Given the description of an element on the screen output the (x, y) to click on. 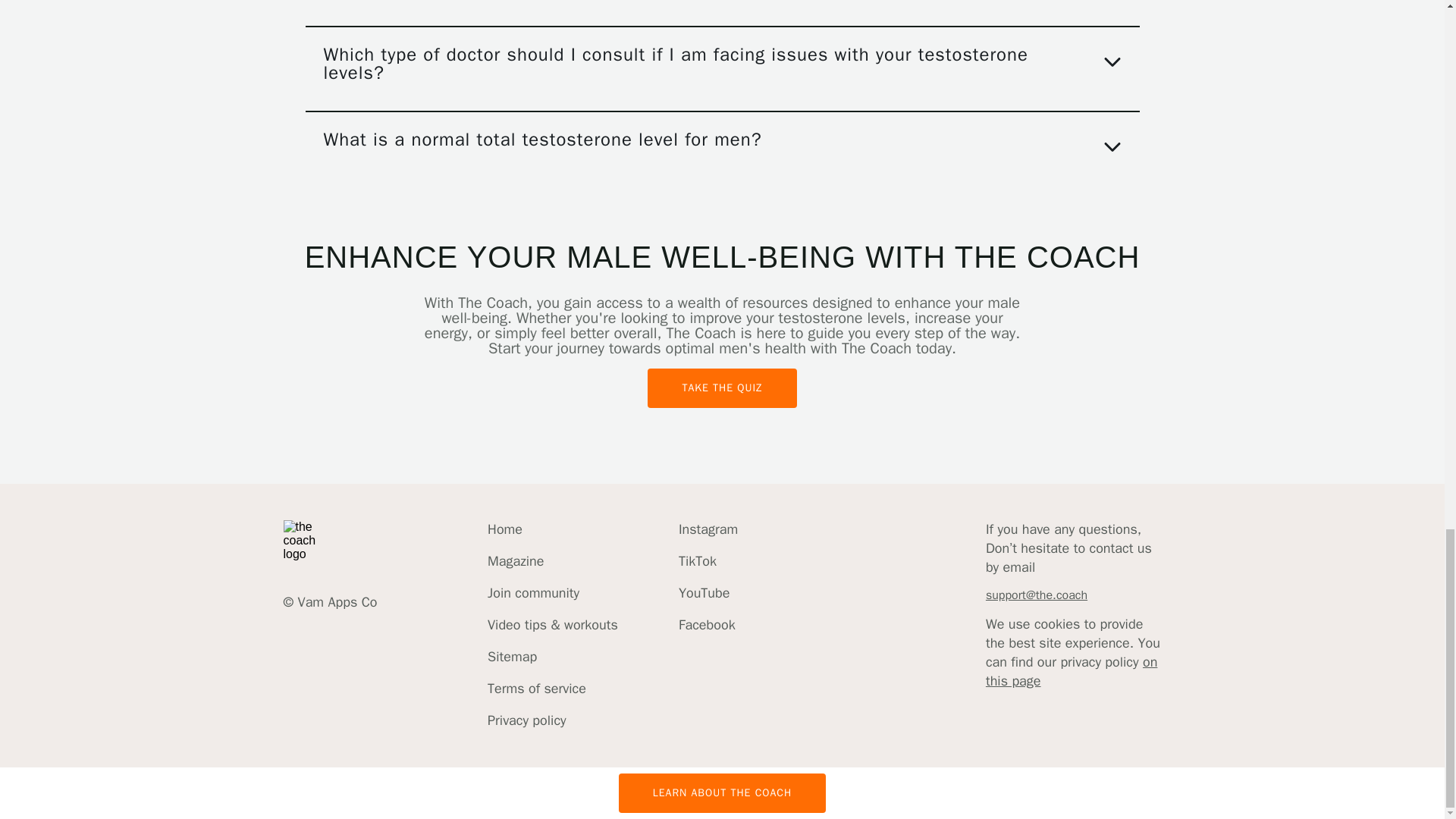
Terms of service (552, 688)
Privacy policy (552, 720)
Instagram (708, 529)
Facebook (708, 624)
Join community (552, 592)
TikTok (708, 561)
on this page (1071, 671)
TAKE THE QUIZ (721, 387)
YouTube (708, 592)
Sitemap (552, 656)
